Given the description of an element on the screen output the (x, y) to click on. 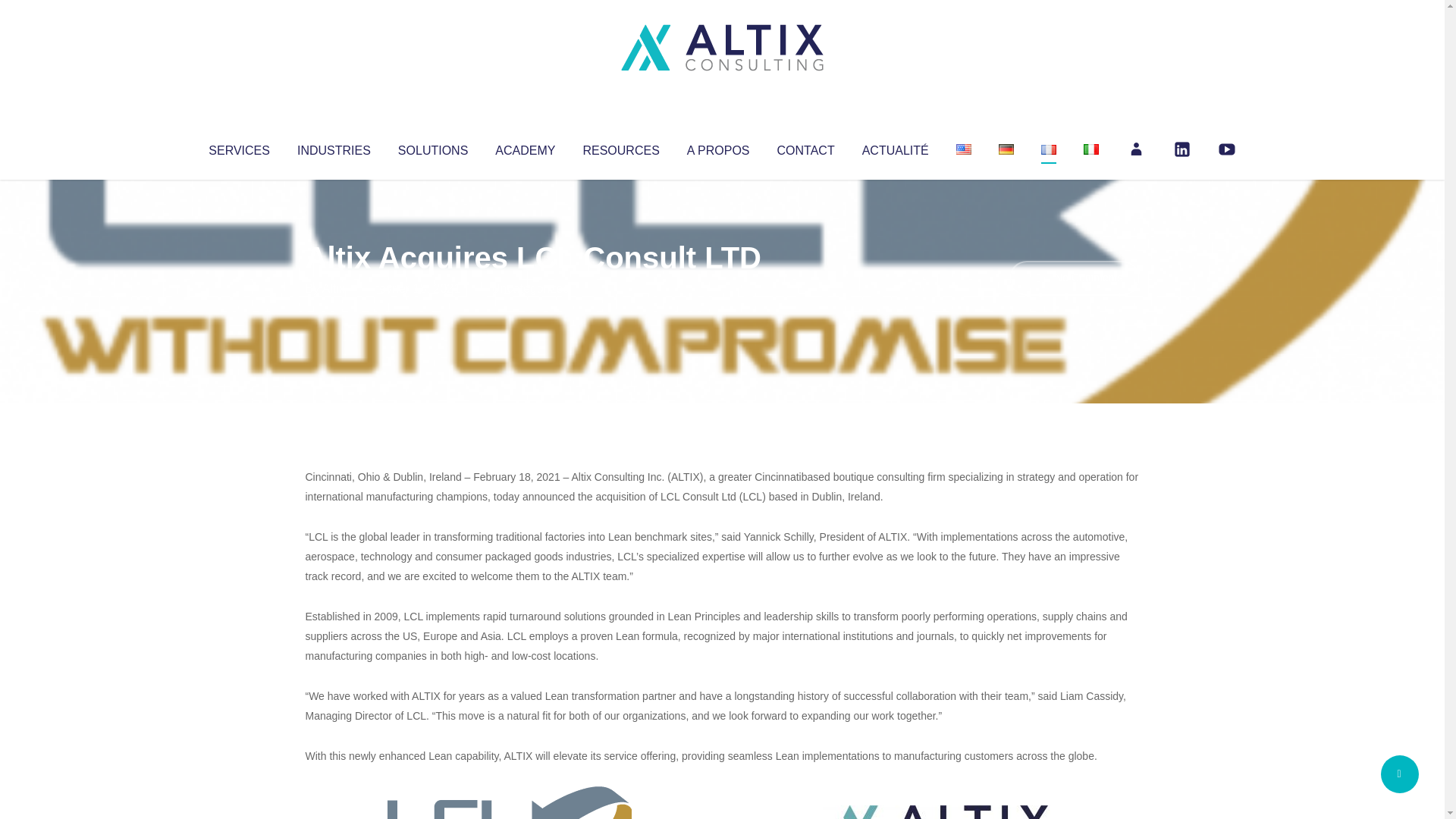
A PROPOS (718, 146)
No Comments (1073, 278)
RESOURCES (620, 146)
INDUSTRIES (334, 146)
Articles par Altix (333, 287)
SOLUTIONS (432, 146)
Altix (333, 287)
Uncategorized (530, 287)
ACADEMY (524, 146)
SERVICES (238, 146)
